Given the description of an element on the screen output the (x, y) to click on. 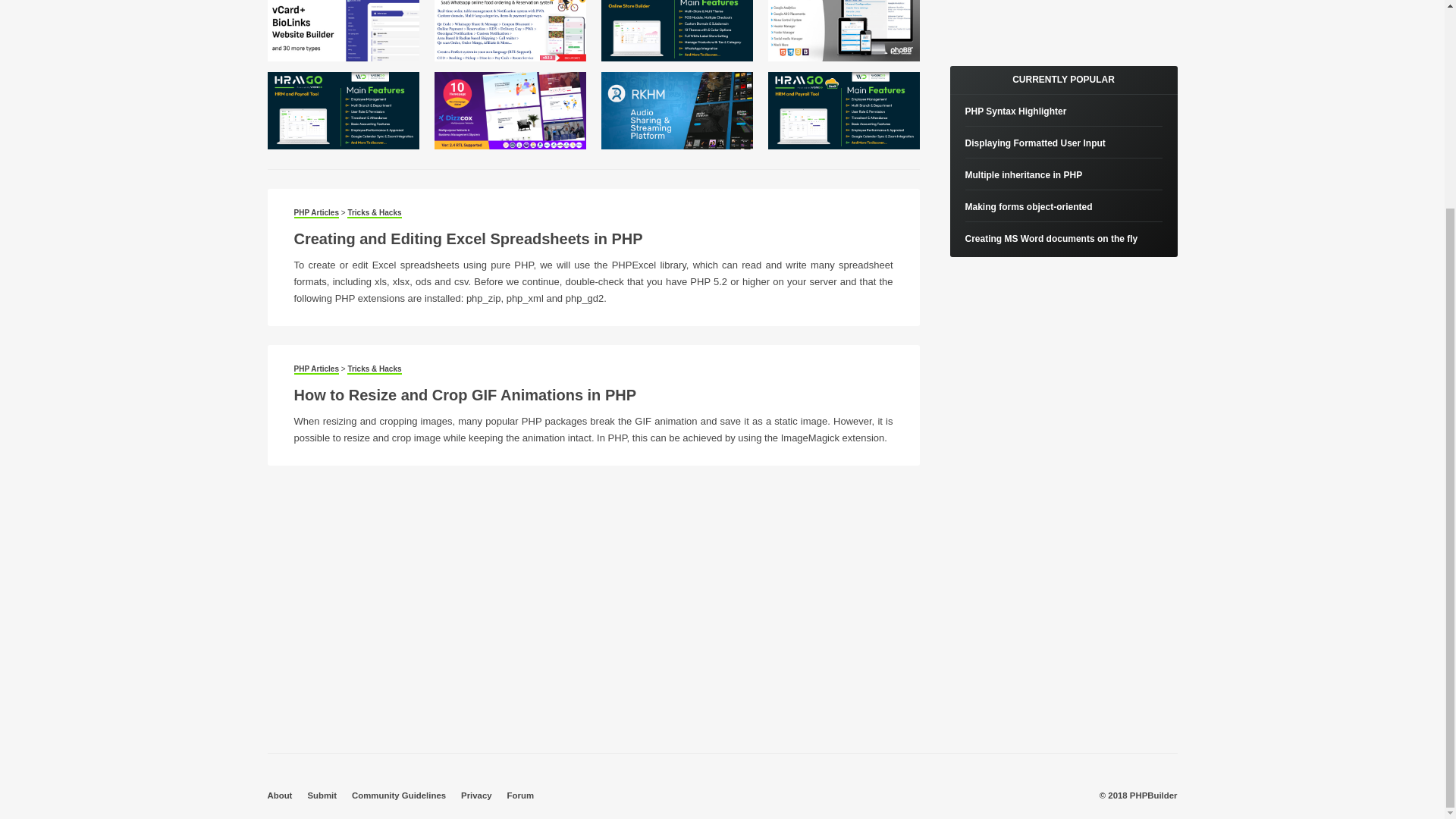
PHP Syntax Highlighter (1014, 111)
Creating and Editing Excel Spreadsheets in PHP (468, 238)
Advertisement (1062, 18)
Displaying Formatted User Input (1034, 143)
How to Resize and Crop GIF Animations in PHP (465, 394)
How to Resize and Crop GIF Animations in PHP (465, 394)
PHP Articles (316, 369)
PHP Articles (316, 213)
Creating and Editing Excel Spreadsheets in PHP (468, 238)
